Given the description of an element on the screen output the (x, y) to click on. 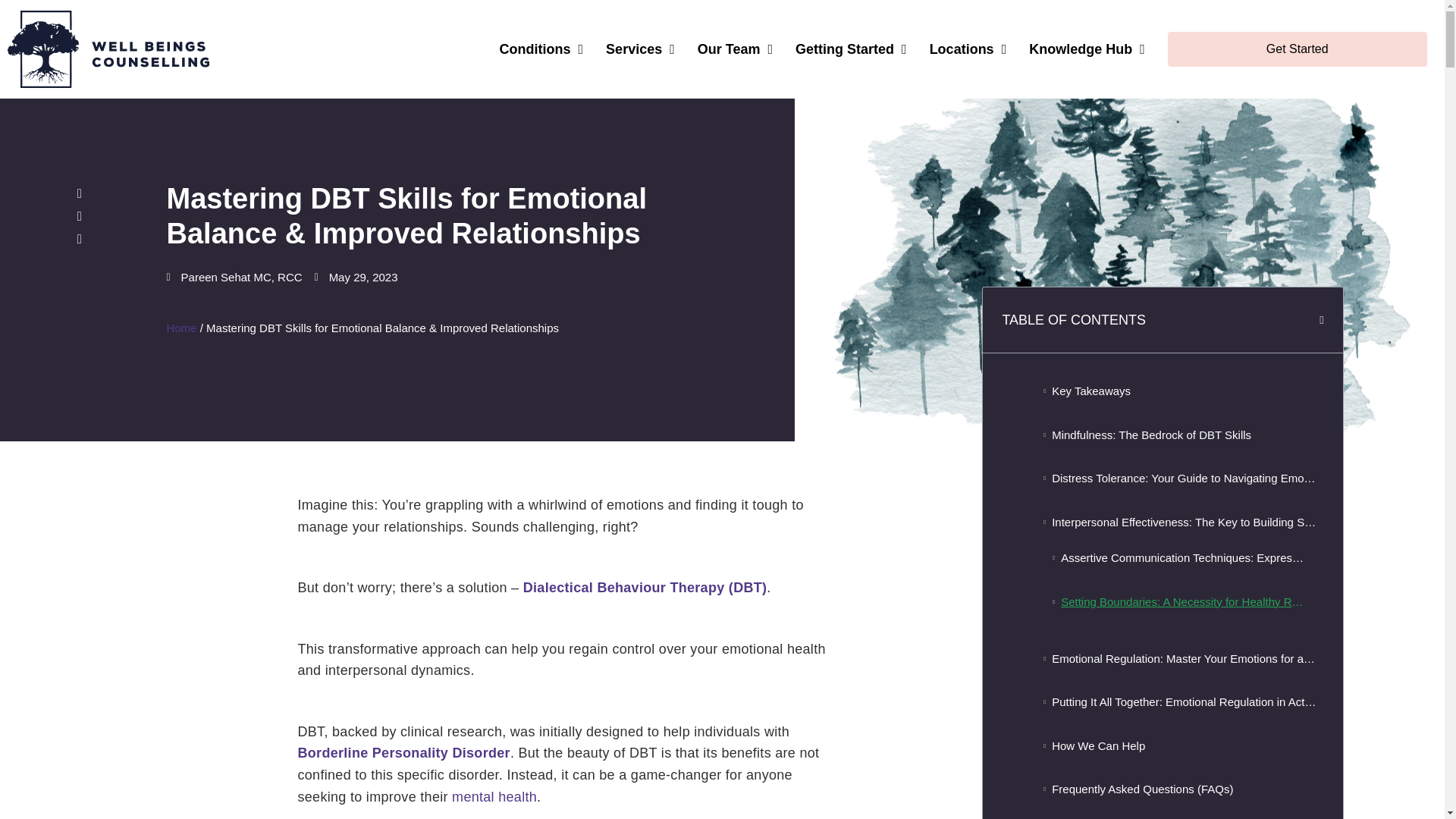
Locations (968, 48)
Counselling Services (640, 48)
Getting Started (850, 48)
Conditions (541, 48)
Our Team (735, 48)
Services (640, 48)
